Given the description of an element on the screen output the (x, y) to click on. 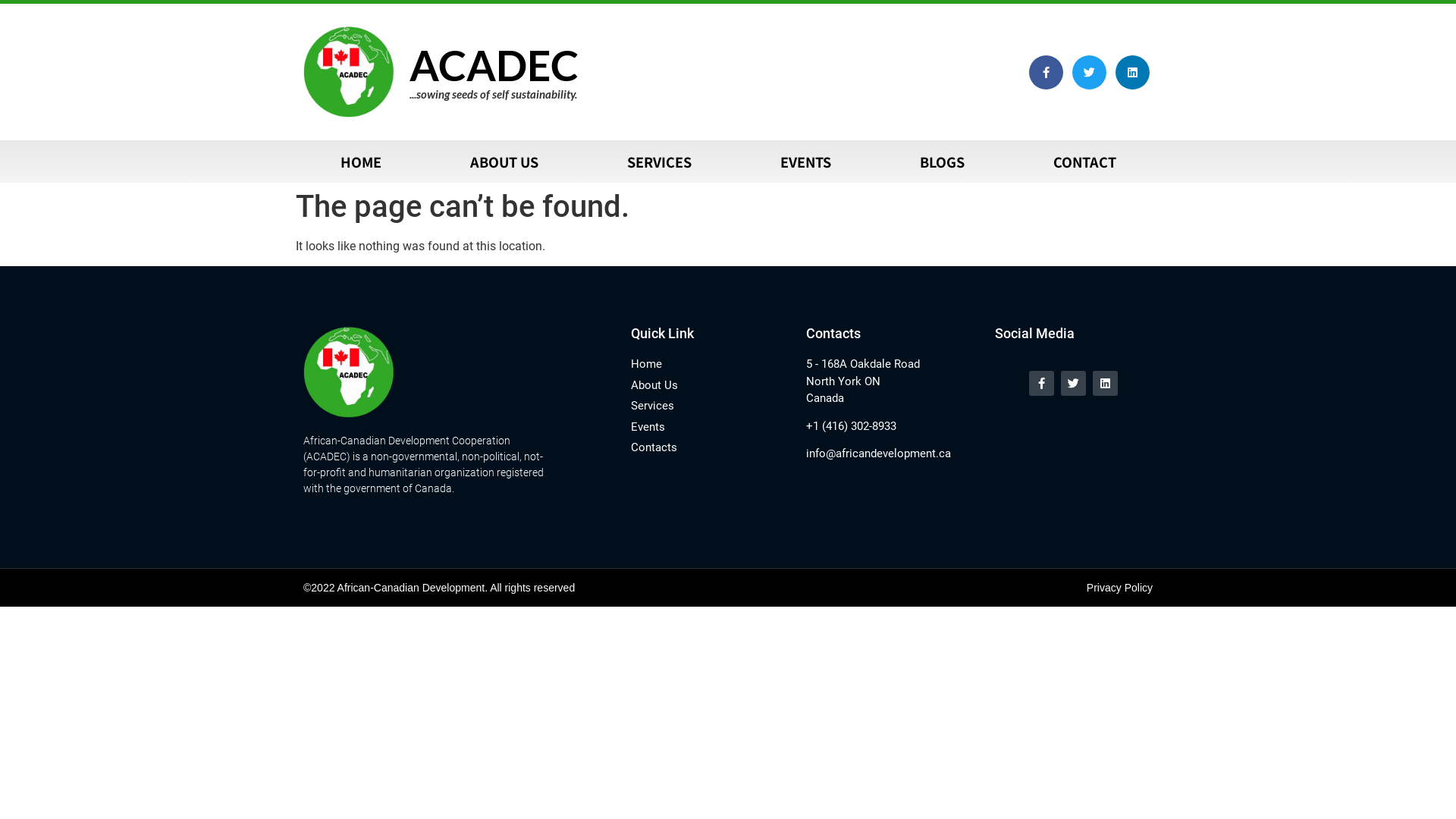
CONTACT Element type: text (1084, 161)
Contacts Element type: text (710, 447)
5 - 168A Oakdale Road
North York ON
Canada Element type: text (892, 381)
About Us Element type: text (710, 385)
Home Element type: text (710, 364)
+1 (416) 302-8933 Element type: text (892, 426)
info@africandevelopment.ca Element type: text (892, 453)
Privacy Policy Element type: text (1119, 587)
ABOUT US Element type: text (503, 161)
EVENTS Element type: text (805, 161)
Services Element type: text (710, 405)
SERVICES Element type: text (658, 161)
Events Element type: text (710, 427)
BLOGS Element type: text (941, 161)
HOME Element type: text (360, 161)
